Given the description of an element on the screen output the (x, y) to click on. 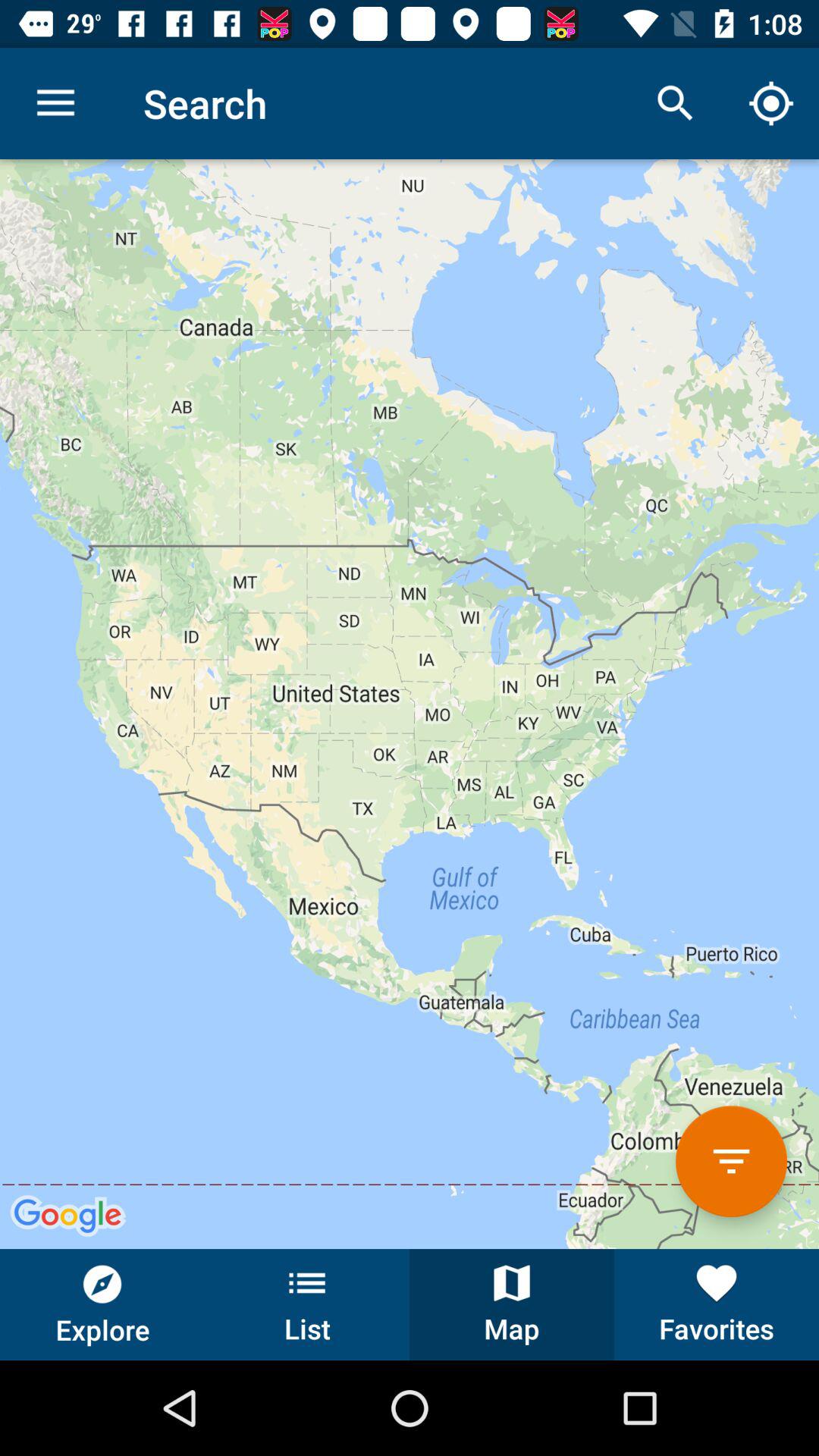
filter (731, 1161)
